Given the description of an element on the screen output the (x, y) to click on. 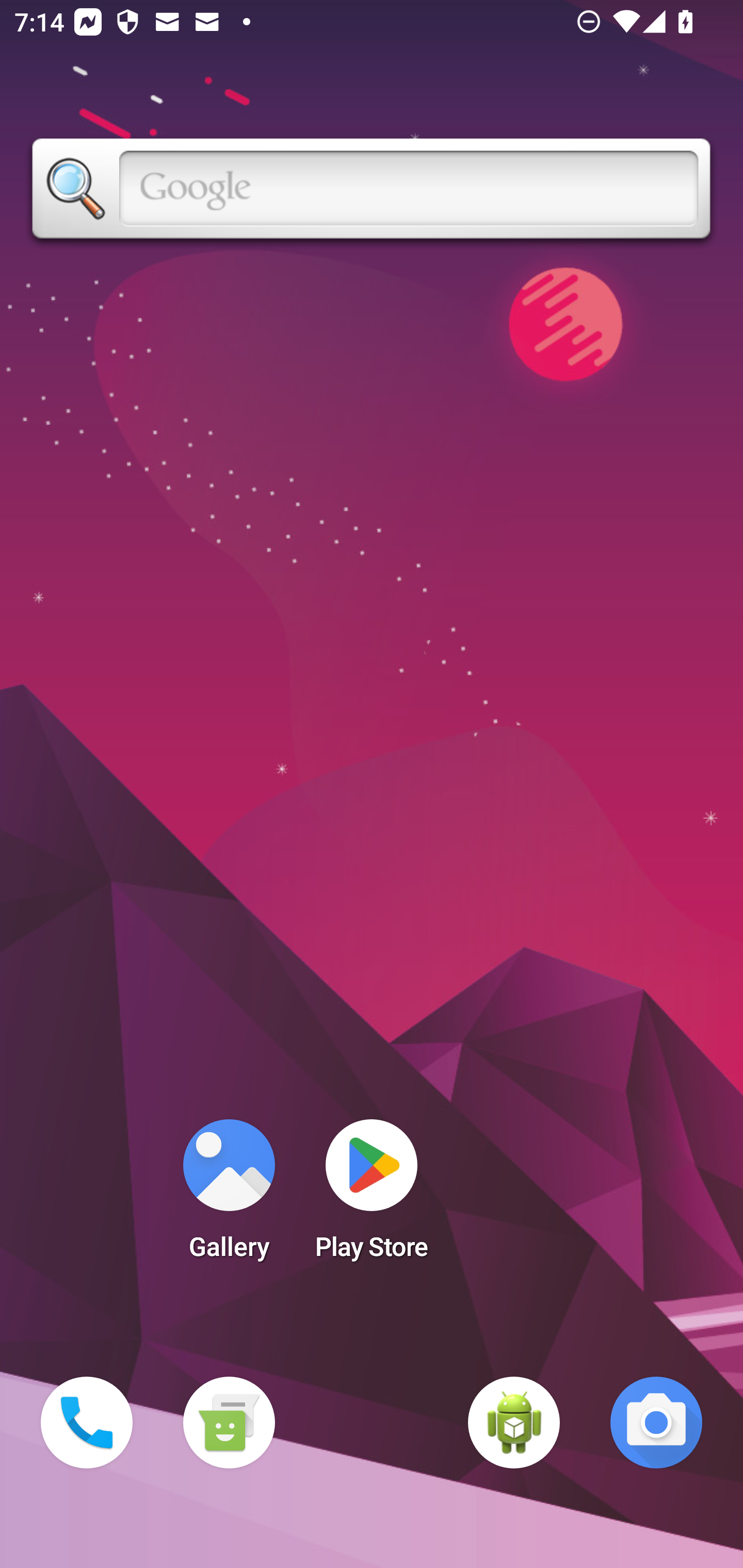
Gallery (228, 1195)
Play Store (371, 1195)
Phone (86, 1422)
Messaging (228, 1422)
WebView Browser Tester (513, 1422)
Camera (656, 1422)
